Given the description of an element on the screen output the (x, y) to click on. 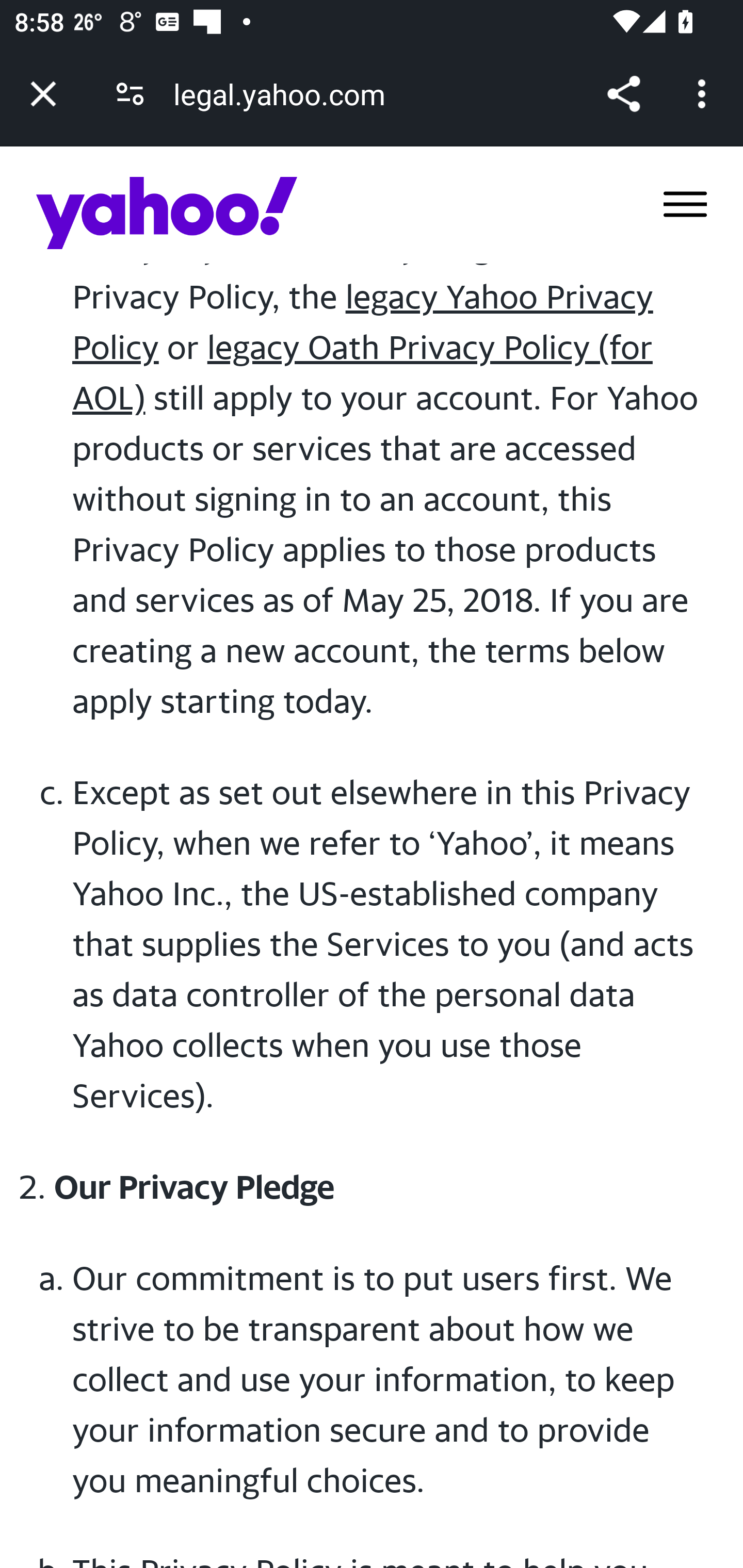
Close tab (43, 93)
Share (623, 93)
Customize and control Google Chrome (705, 93)
Connection is secure (129, 93)
legal.yahoo.com (286, 93)
legacy Yahoo Privacy Policy (362, 321)
